Given the description of an element on the screen output the (x, y) to click on. 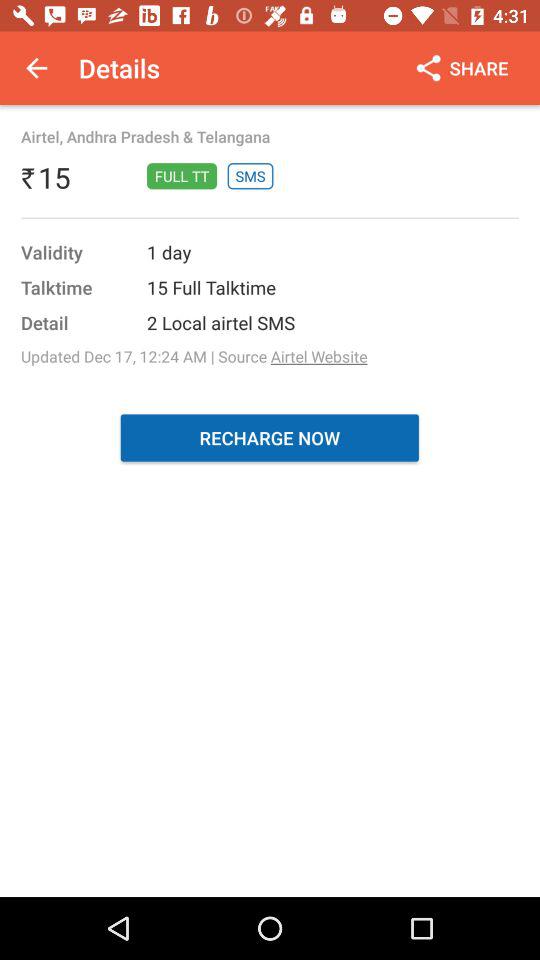
flip until the updated dec 17 (194, 356)
